Given the description of an element on the screen output the (x, y) to click on. 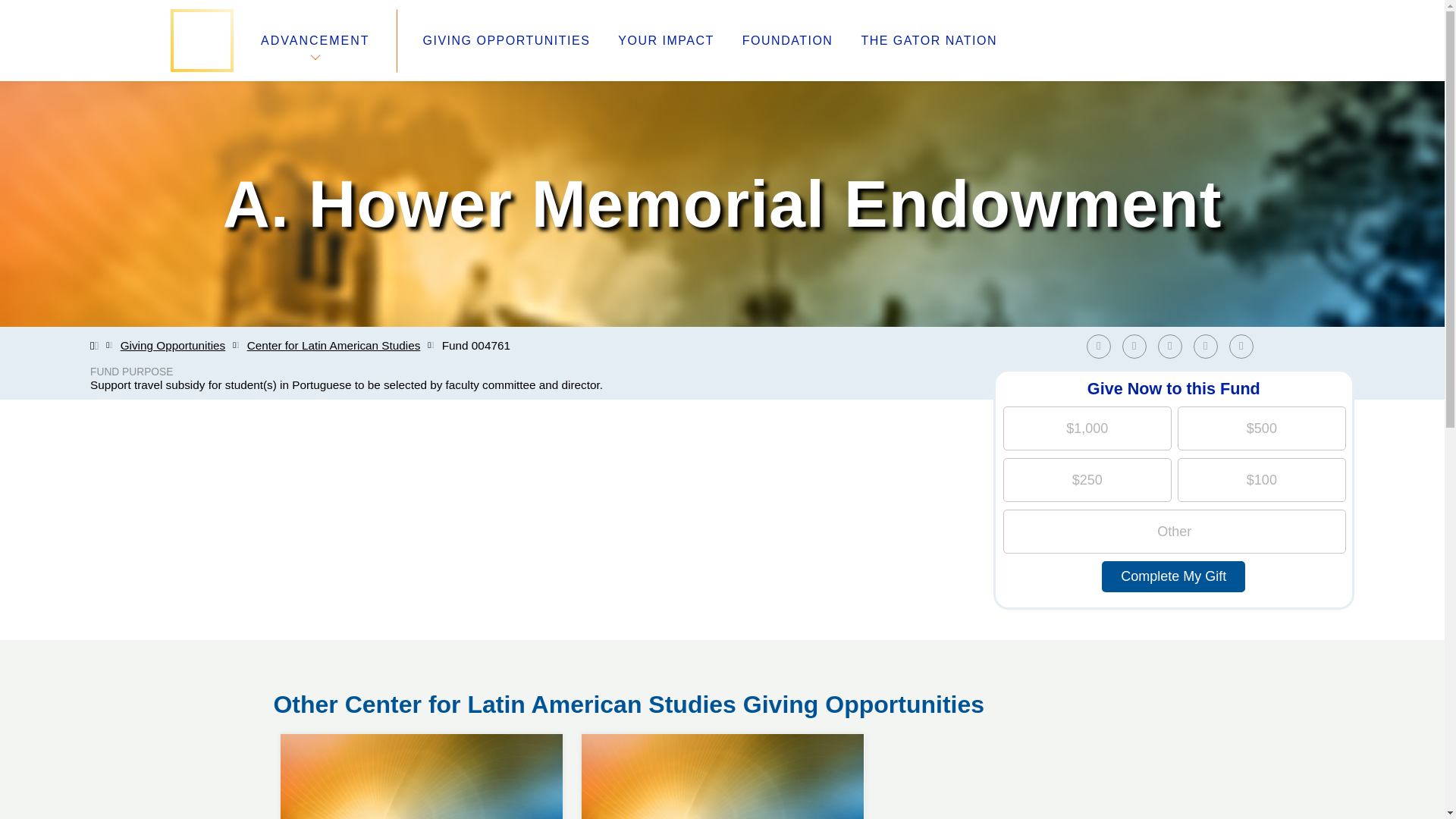
Share on LinkedIn (1173, 345)
Complete My Gift (1173, 576)
Share on Twitter (721, 734)
Share on Reddit (1138, 345)
Share on Facebook (1209, 345)
Share on Reddit (1102, 345)
GIVING OPPORTUNITIES (1205, 346)
FOUNDATION (507, 40)
Share on Facebook (787, 40)
